Given the description of an element on the screen output the (x, y) to click on. 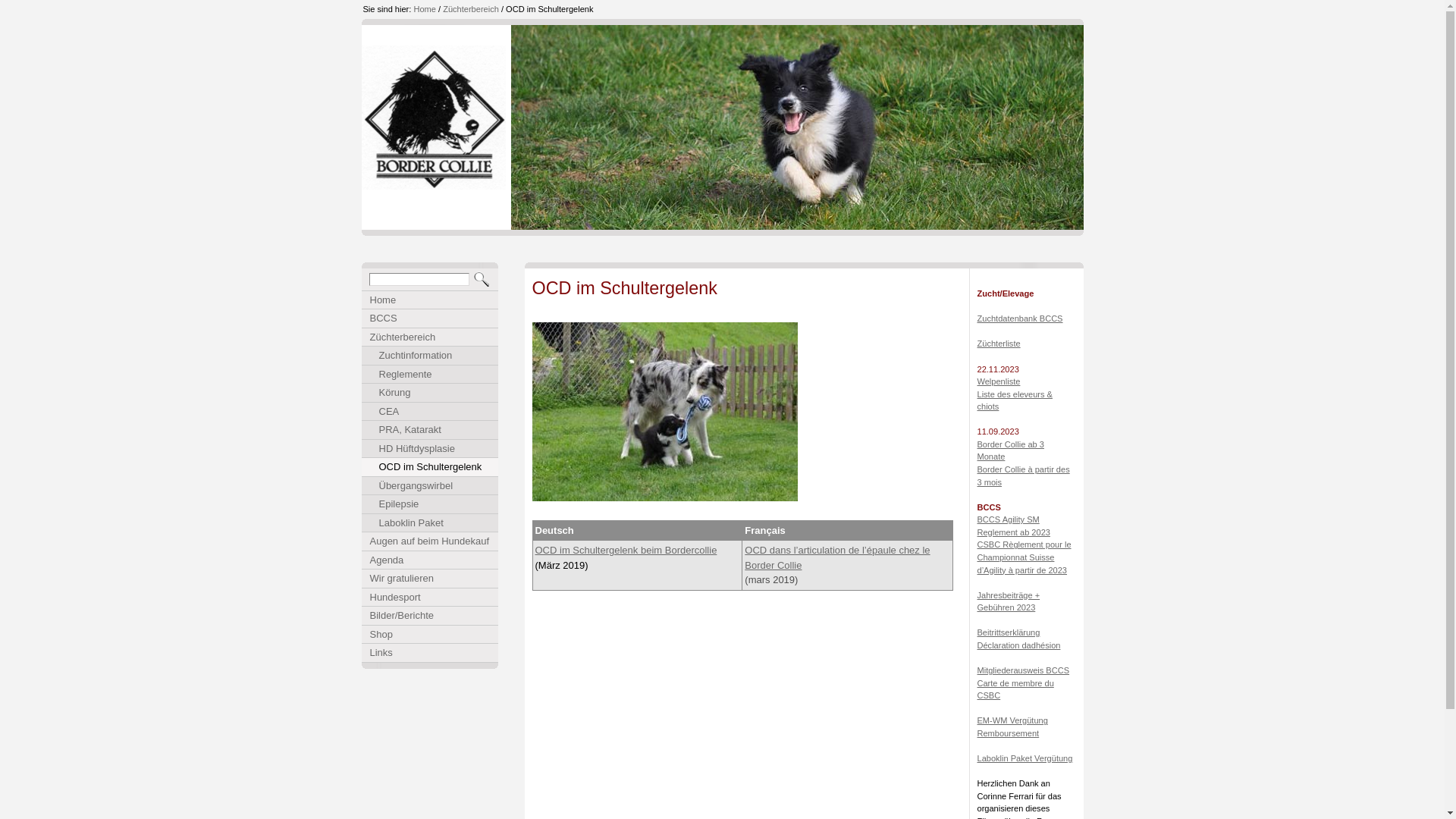
Reglemente Element type: text (429, 374)
Bilder/Berichte Element type: text (429, 615)
header.jpg Element type: hover (797, 127)
Home Element type: text (424, 8)
Wir gratulieren Element type: text (429, 578)
Agenda Element type: text (429, 560)
Remboursement Element type: text (1007, 732)
Hundesport Element type: text (429, 597)
BCCS Element type: text (429, 318)
Mitgliederausweis BCCS Element type: text (1022, 669)
Epilepsie Element type: text (429, 504)
BCCS Agility SM Reglement ab 2023 Element type: text (1012, 525)
Border Collie ab 3 Monate Element type: text (1009, 450)
Links Element type: text (429, 652)
Shop Element type: text (429, 634)
Zuchtinformation Element type: text (429, 355)
CEA Element type: text (429, 411)
OCD im Schultergelenk Element type: text (429, 467)
Laboklin Paket Element type: text (429, 523)
Border Collie Club Schweiz Element type: hover (434, 123)
Home Element type: text (429, 300)
Zuchtdatenbank BCCS Element type: text (1019, 318)
OCD im Schultergelenk beim Bordercollie Element type: text (626, 549)
Welpenliste
Liste des eleveurs & chiots Element type: text (1013, 399)
OCD im Schultergelenk Element type: text (549, 8)
Augen auf beim Hundekauf Element type: text (429, 541)
Carte de membre du CSBC Element type: text (1014, 689)
zucht 04 Element type: hover (664, 411)
PRA, Katarakt Element type: text (429, 429)
